Given the description of an element on the screen output the (x, y) to click on. 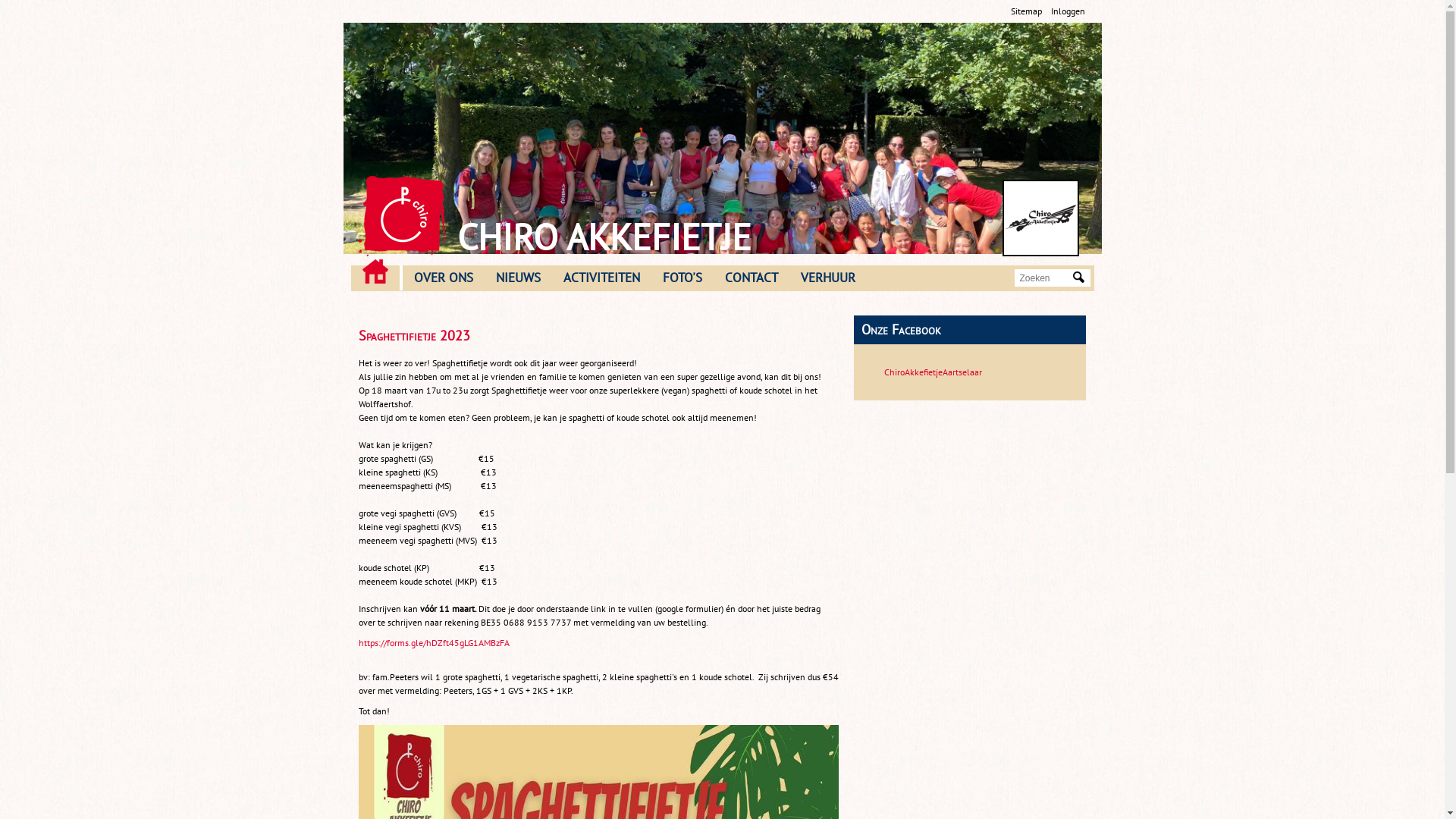
Jump to navigation Element type: text (722, 2)
https://forms.gle/hDZft45gLG1AMBzFA Element type: text (432, 642)
CHIRO AKKEFIETJE Element type: text (603, 236)
VERHUUR Element type: text (827, 278)
ChiroAkkefietjeAartselaar Element type: text (933, 371)
CONTACT Element type: text (750, 278)
Home Element type: hover (1040, 217)
HOME Element type: text (374, 271)
Sitemap Element type: text (1025, 10)
FOTO'S Element type: text (681, 278)
Geef de woorden op waarnaar u wilt zoeken. Element type: hover (1043, 277)
Home Element type: hover (401, 215)
OVER ONS Element type: text (442, 278)
ACTIVITEITEN Element type: text (601, 278)
NIEUWS Element type: text (517, 278)
Inloggen Element type: text (1068, 10)
